Given the description of an element on the screen output the (x, y) to click on. 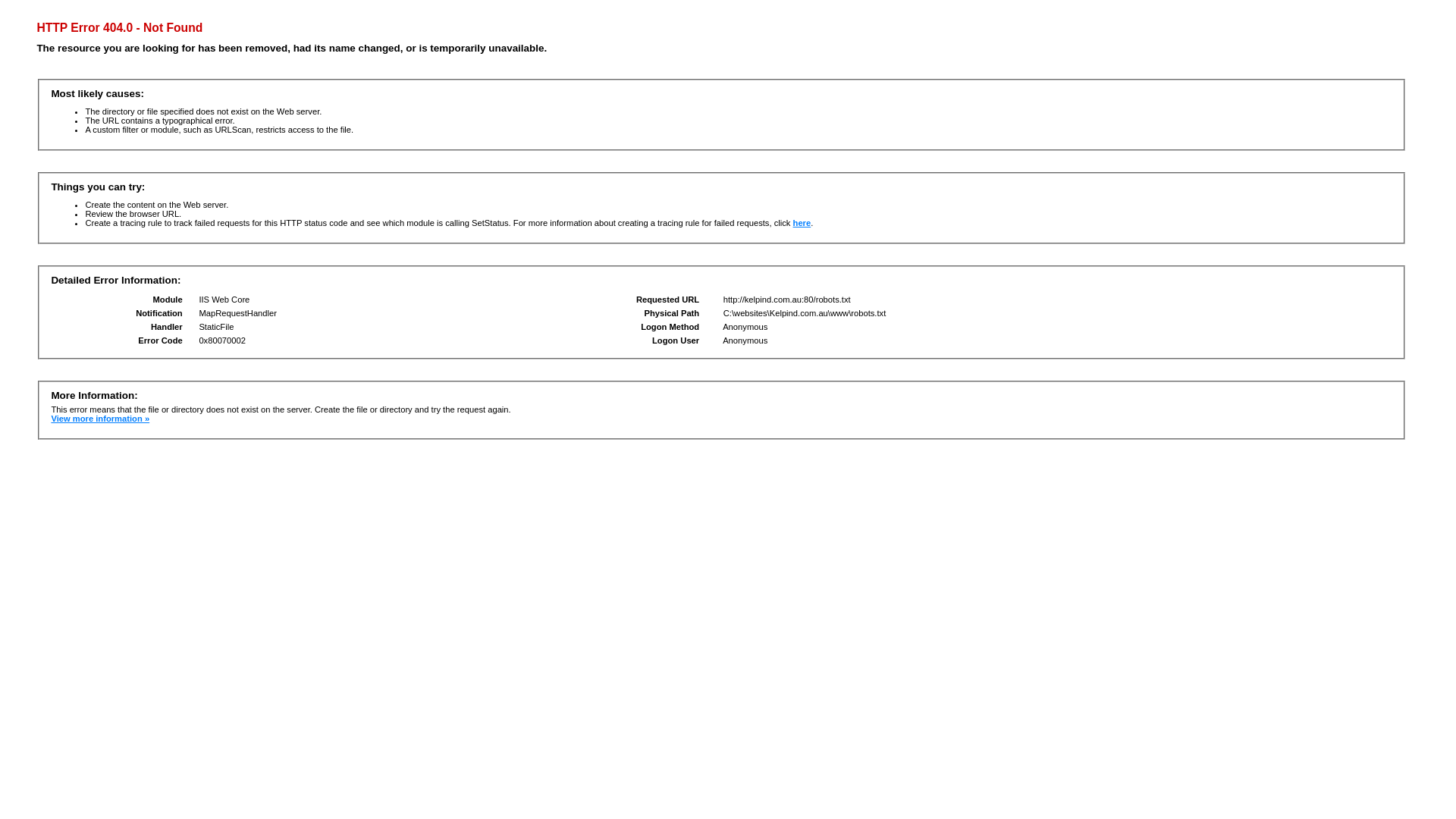
here Element type: text (802, 222)
